Given the description of an element on the screen output the (x, y) to click on. 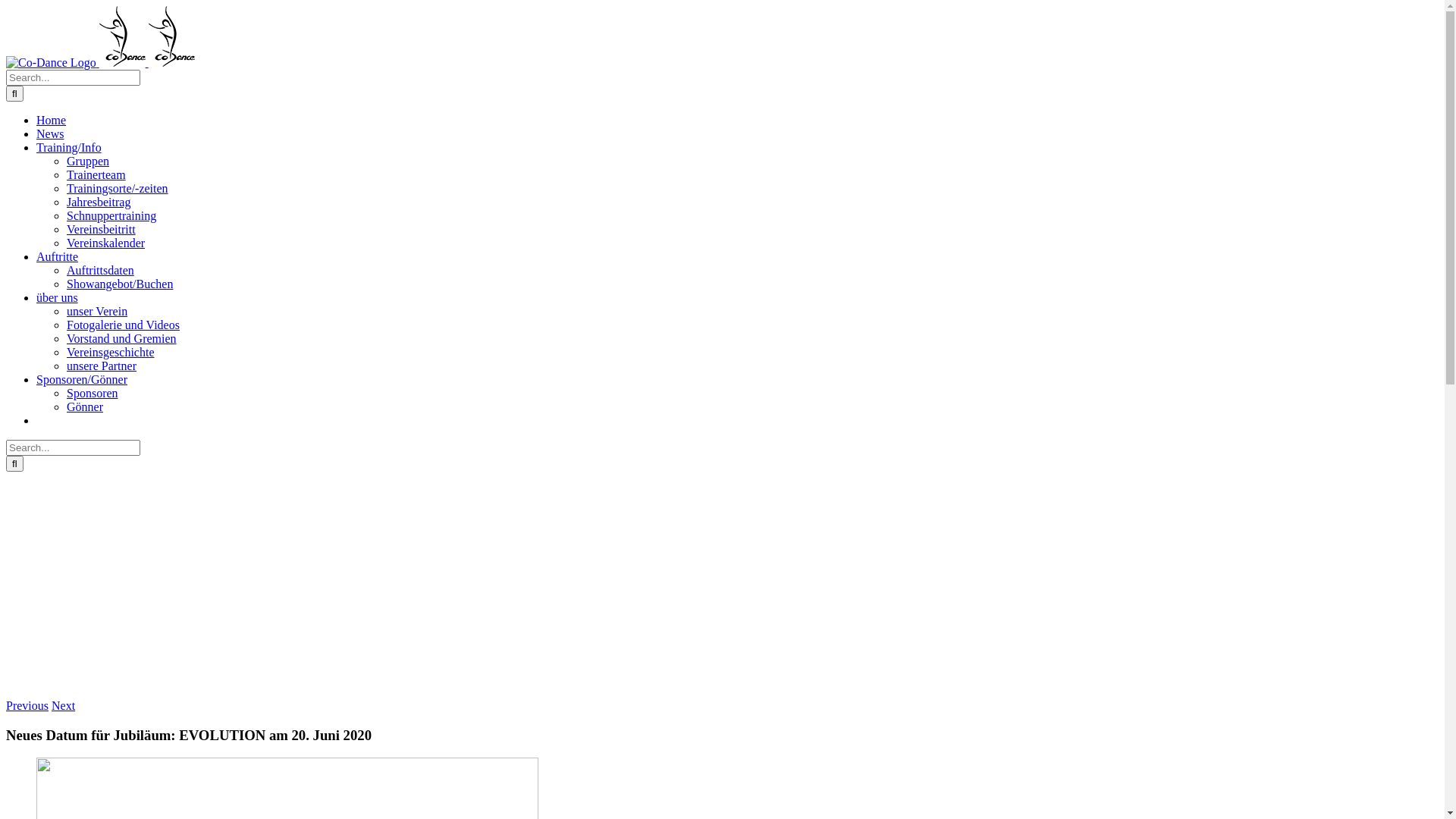
Skip to content Element type: text (5, 5)
Showangebot/Buchen Element type: text (119, 283)
Vereinsbeitritt Element type: text (100, 228)
Training/Info Element type: text (68, 147)
Auftritte Element type: text (57, 256)
Schnuppertraining Element type: text (111, 215)
unsere Partner Element type: text (101, 365)
Sponsoren Element type: text (92, 392)
News Element type: text (49, 133)
Vereinsgeschichte Element type: text (110, 351)
Trainingsorte/-zeiten Element type: text (117, 188)
Next Element type: text (63, 705)
Fotogalerie und Videos Element type: text (122, 324)
Jahresbeitrag Element type: text (98, 201)
Trainerteam Element type: text (95, 174)
Previous Element type: text (27, 705)
Vorstand und Gremien Element type: text (121, 338)
Gruppen Element type: text (87, 160)
Vereinskalender Element type: text (105, 242)
unser Verein Element type: text (96, 310)
Home Element type: text (50, 119)
Auftrittsdaten Element type: text (100, 269)
